Given the description of an element on the screen output the (x, y) to click on. 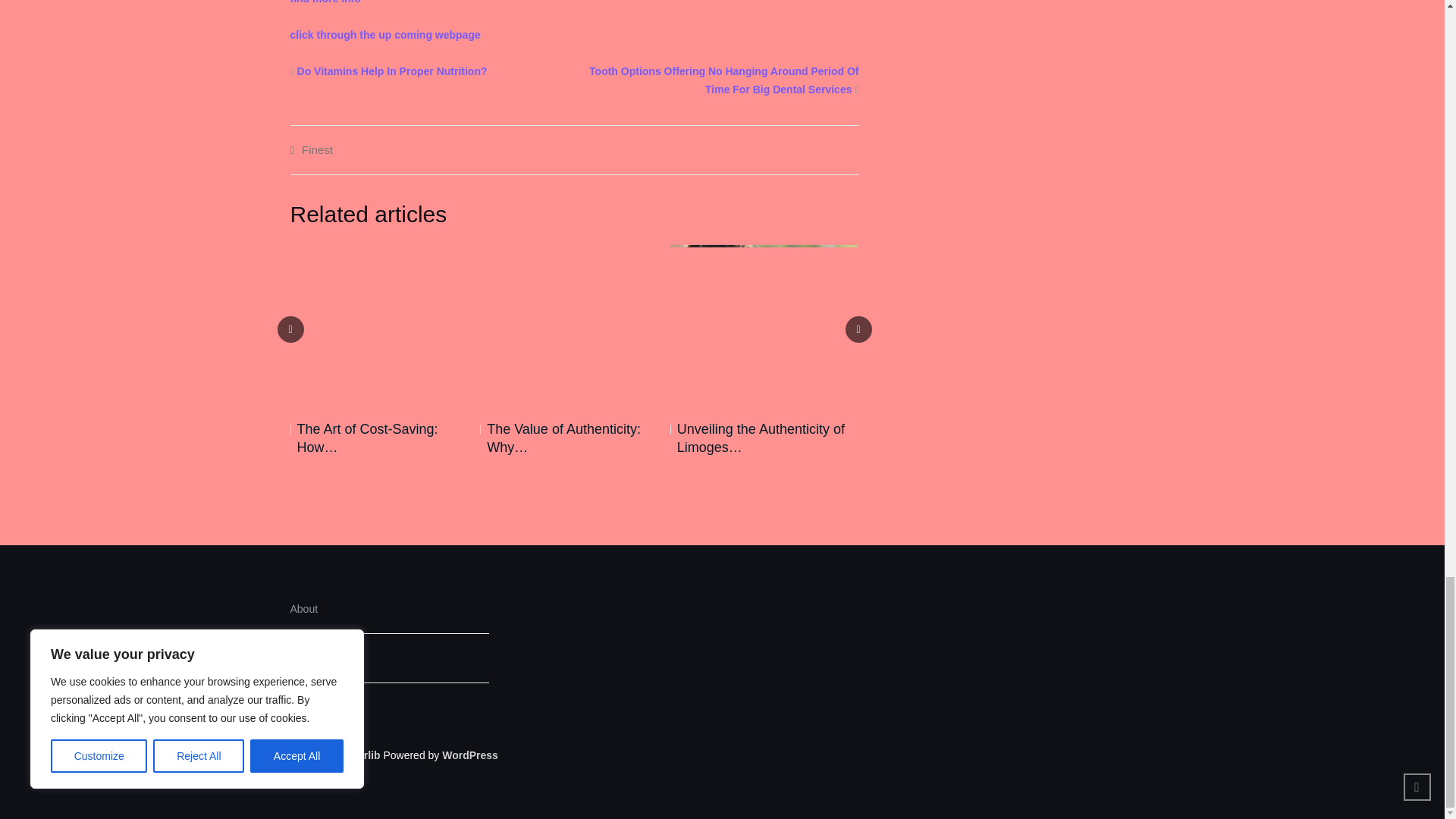
click through the up coming webpage (384, 34)
Colorlib (360, 755)
Do Vitamins Help In Proper Nutrition? (392, 70)
Finest (317, 149)
WordPress.org (469, 755)
find more info (324, 2)
